Given the description of an element on the screen output the (x, y) to click on. 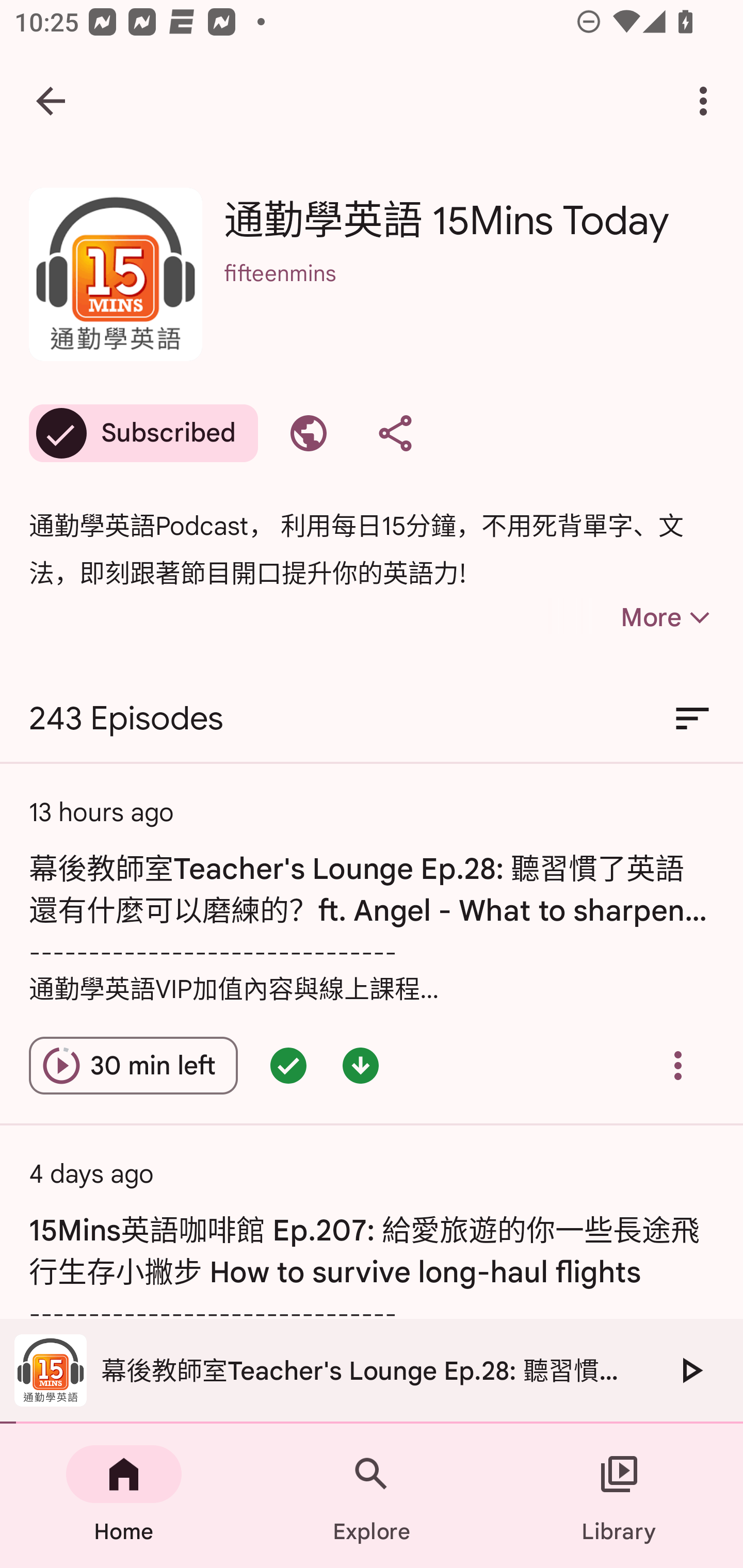
Navigate up (50, 101)
More options (706, 101)
fifteenmins (468, 300)
Subscribed (142, 433)
Visit website (308, 433)
Share (395, 433)
More (631, 616)
Sort (692, 718)
Episode queued - double tap for options (288, 1065)
Episode downloaded - double tap for options (360, 1065)
Overflow menu (677, 1065)
Play (690, 1370)
Explore (371, 1495)
Library (619, 1495)
